Given the description of an element on the screen output the (x, y) to click on. 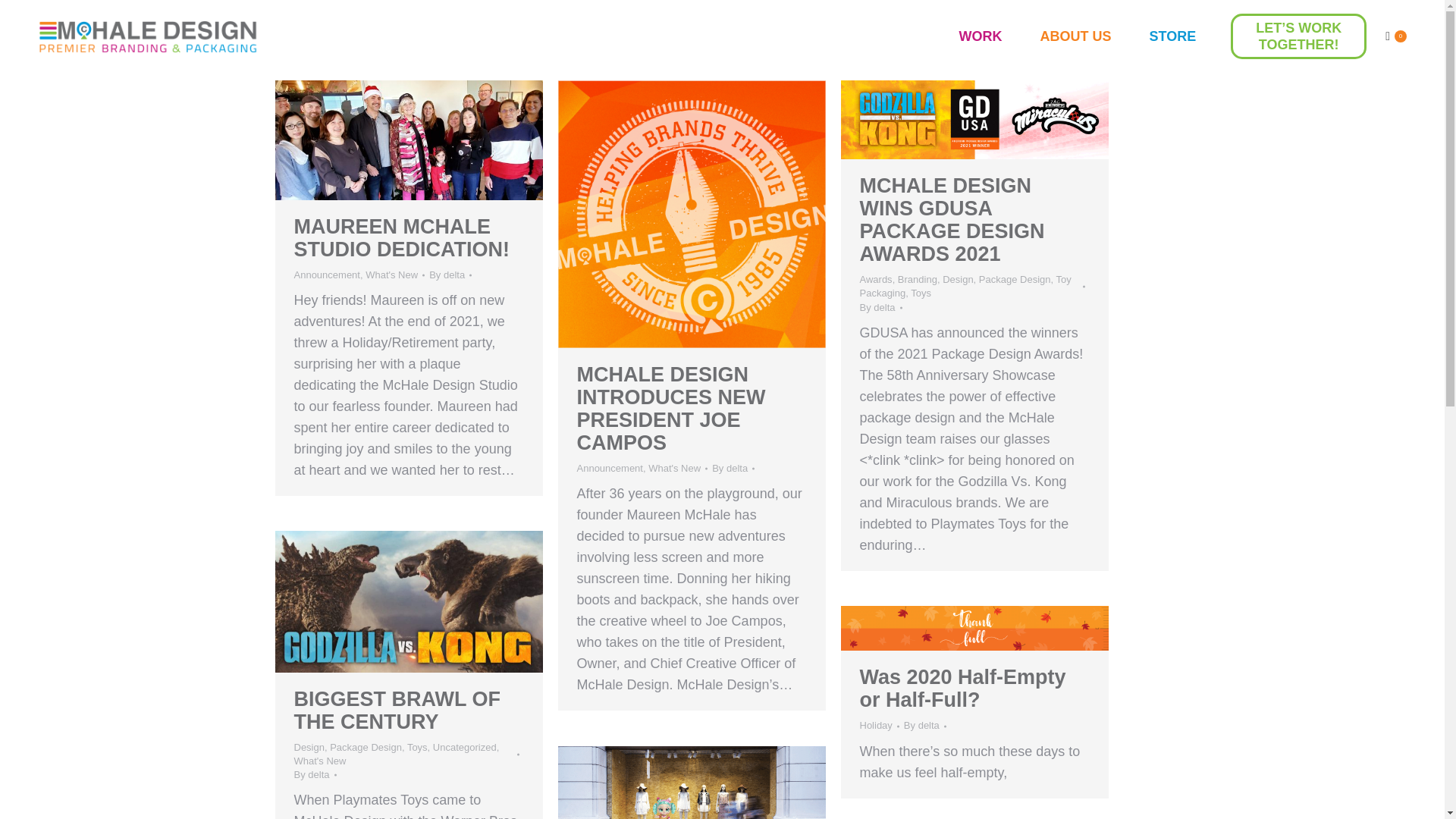
WORK (979, 35)
MAUREEN MCHALE STUDIO DEDICATION! (402, 238)
What's New (673, 468)
View all posts by delta (315, 775)
What's New (391, 274)
By delta (450, 274)
View all posts by delta (732, 468)
BIGGEST BRAWL OF THE CENTURY (397, 709)
MCHALE DESIGN WINS GDUSA PACKAGE DESIGN AWARDS 2021 (952, 219)
View all posts by delta (881, 306)
ABOUT US (1074, 35)
By delta (732, 468)
MCHALE DESIGN INTRODUCES NEW PRESIDENT JOE CAMPOS (670, 408)
Announcement (326, 274)
View all posts by delta (450, 274)
